Given the description of an element on the screen output the (x, y) to click on. 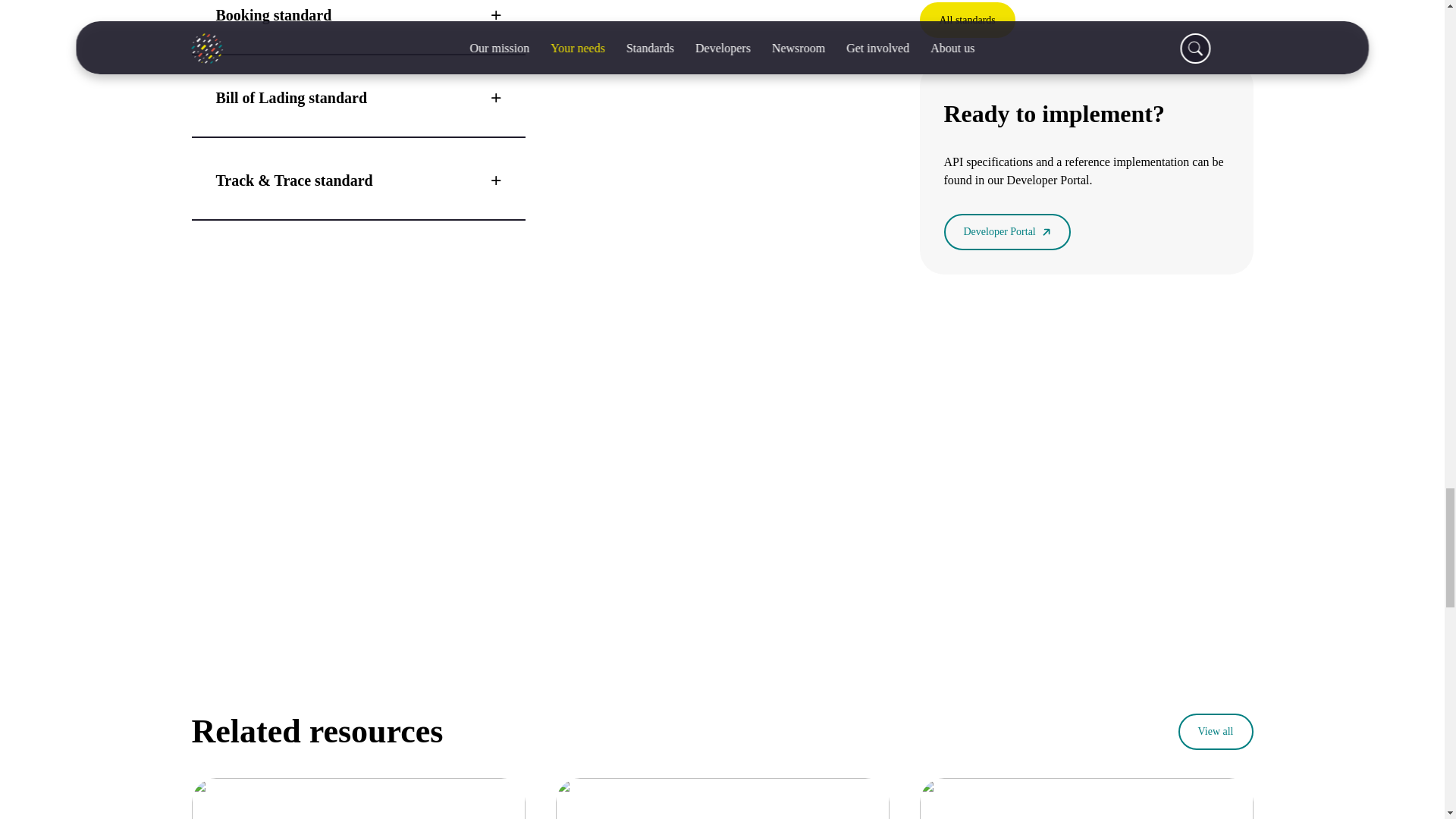
View all (1215, 731)
